Given the description of an element on the screen output the (x, y) to click on. 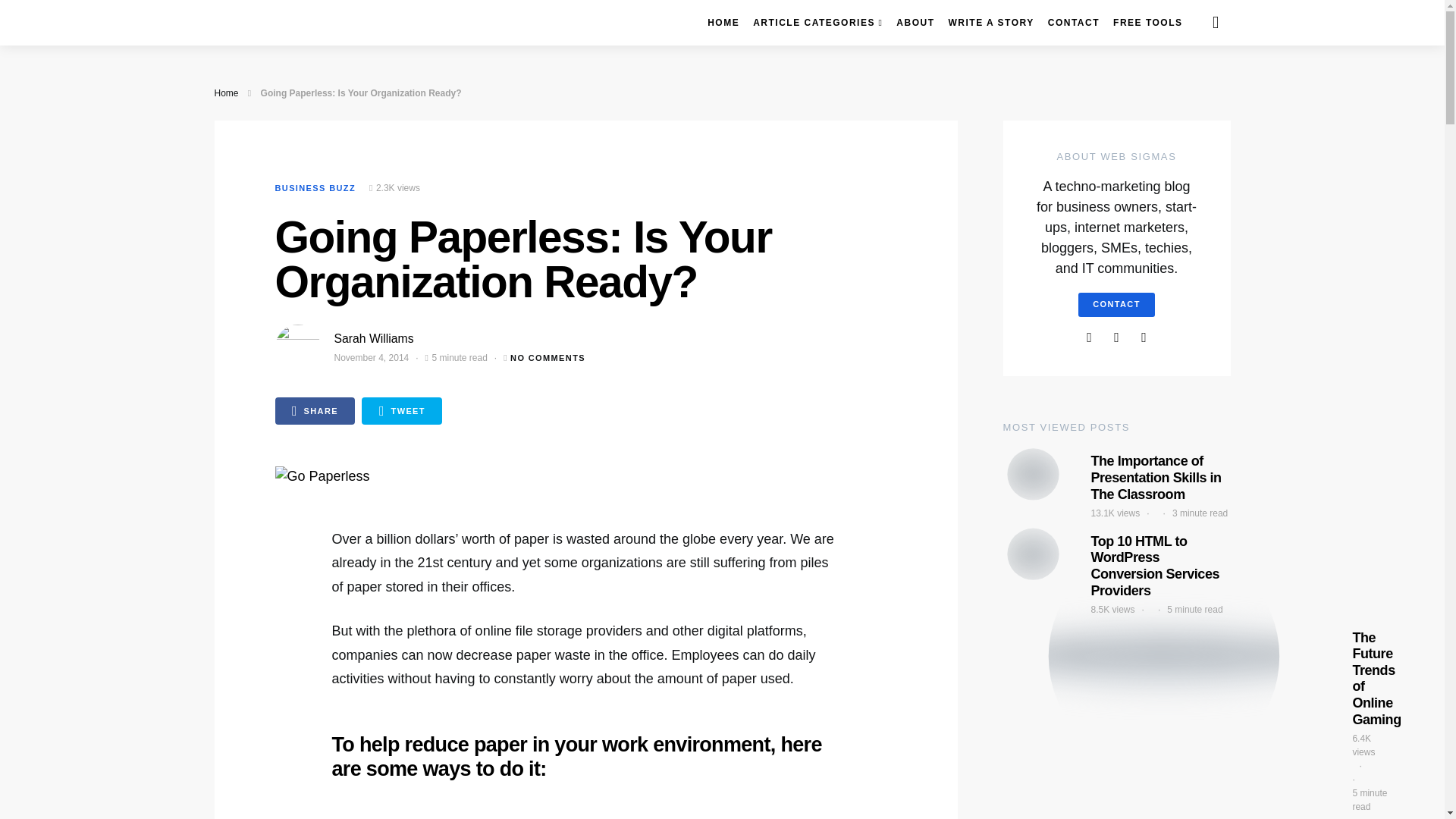
HOME (722, 22)
FREE TOOLS (1147, 22)
Home (226, 92)
ARTICLE CATEGORIES (817, 22)
WRITE A STORY (990, 22)
BUSINESS BUZZ (315, 187)
ABOUT (914, 22)
CONTACT (1073, 22)
